Given the description of an element on the screen output the (x, y) to click on. 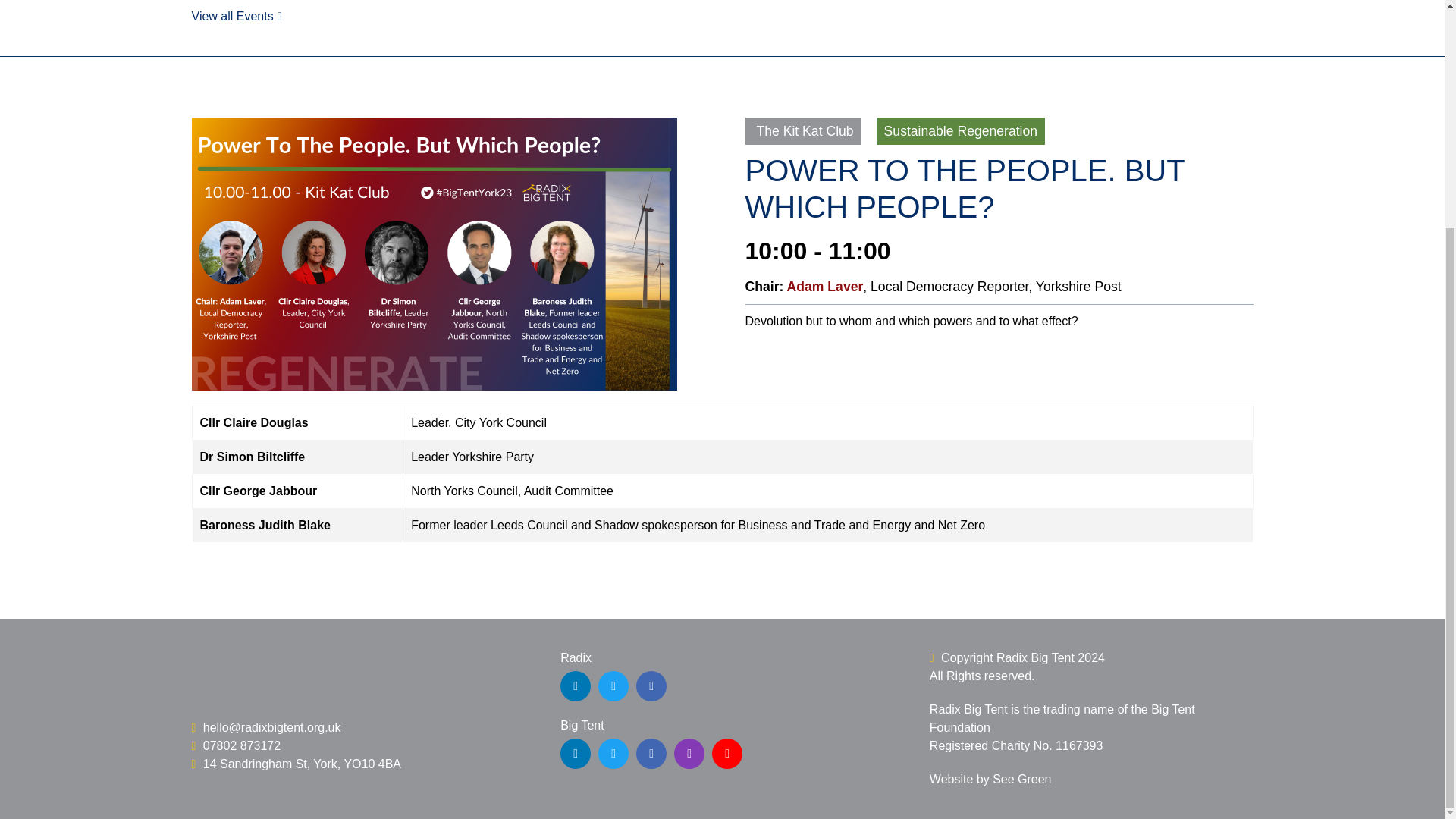
07802 873172 (235, 745)
14 Sandringham St, York, YO10 4BA (295, 763)
See Green (1021, 779)
View all Events (235, 16)
